Given the description of an element on the screen output the (x, y) to click on. 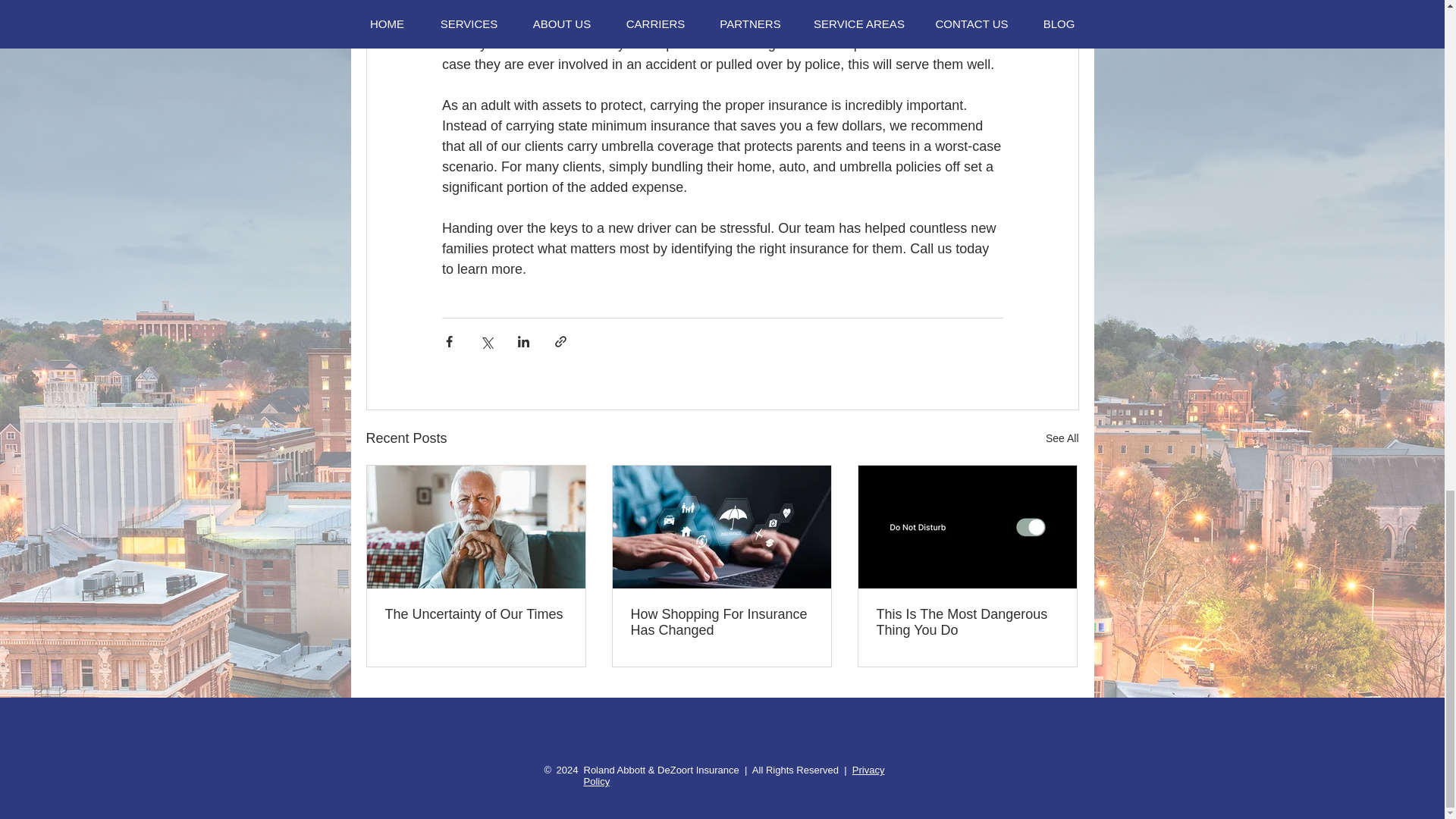
This Is The Most Dangerous Thing You Do (967, 622)
The Uncertainty of Our Times (476, 614)
How Shopping For Insurance Has Changed (721, 622)
Privacy Policy (734, 775)
See All (1061, 438)
